Given the description of an element on the screen output the (x, y) to click on. 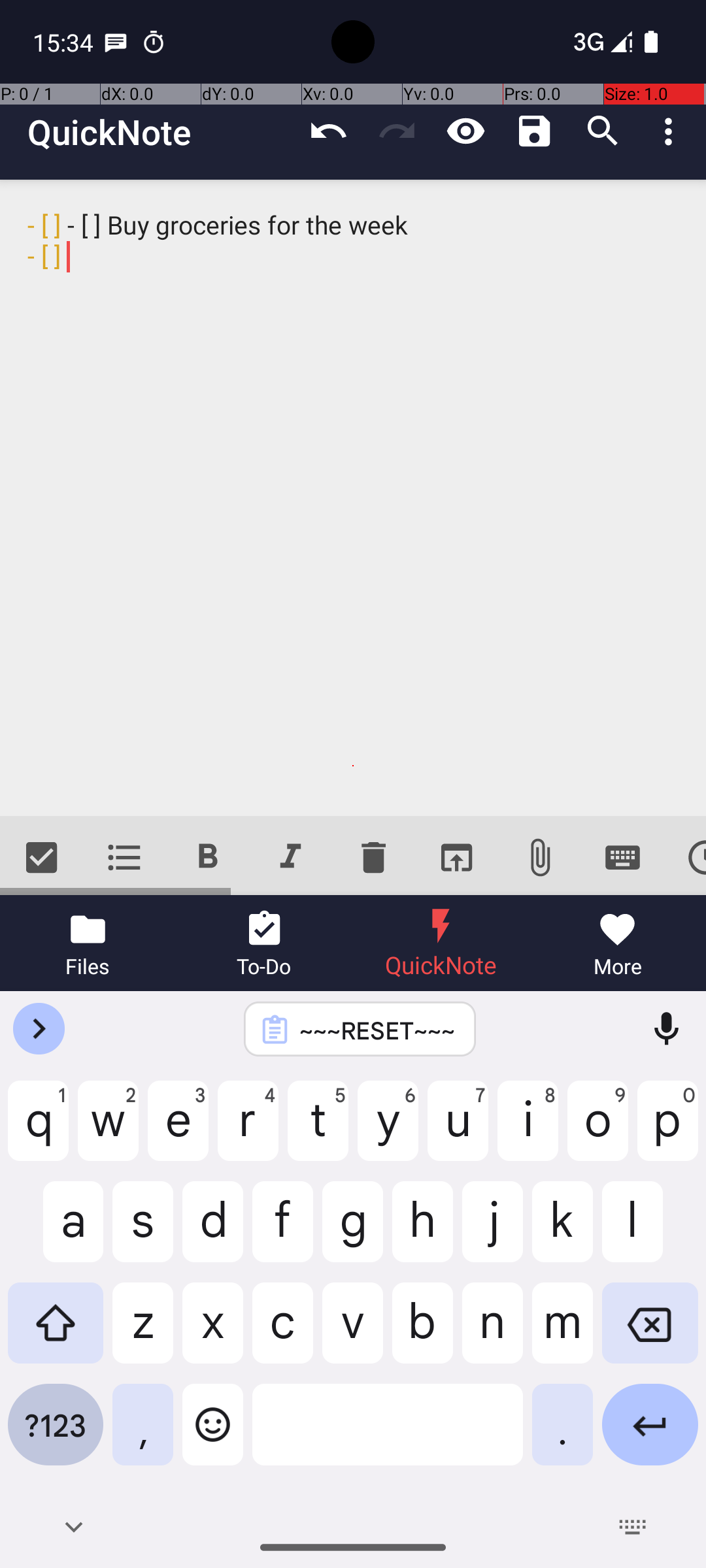
- [ ] - [ ] Buy groceries for the week
- [ ]  Element type: android.widget.EditText (353, 497)
